Given the description of an element on the screen output the (x, y) to click on. 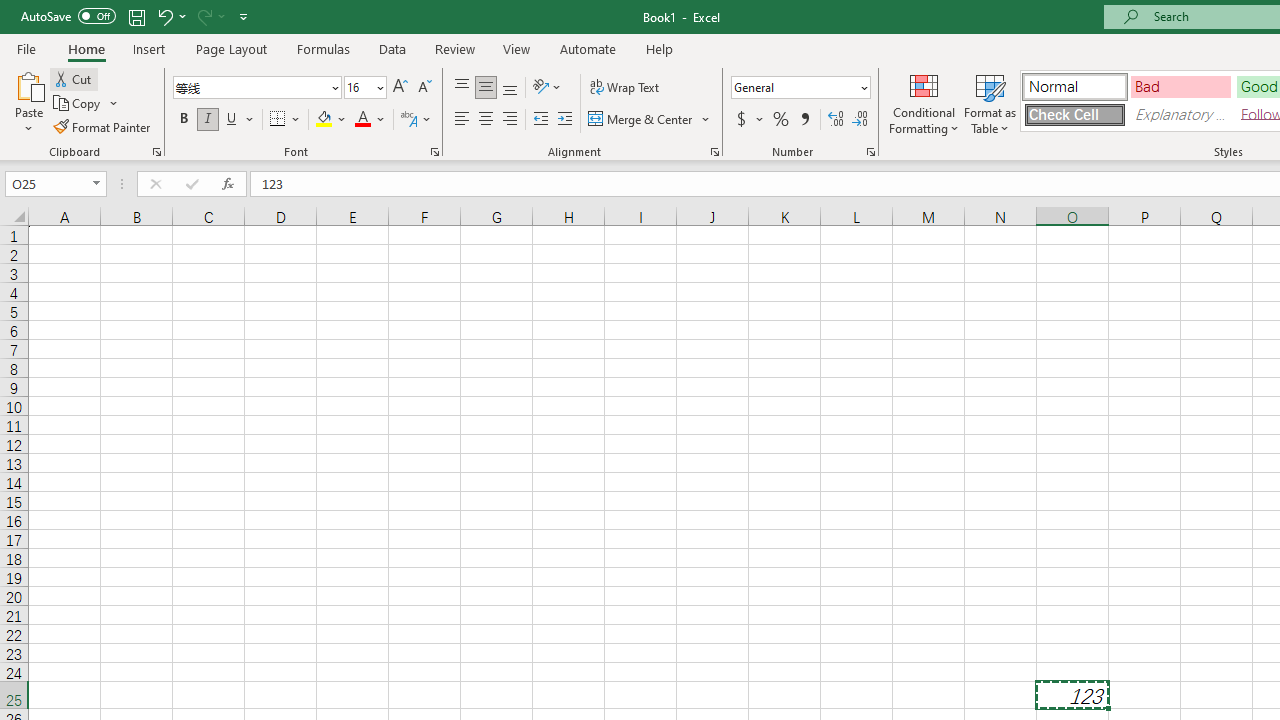
Fill Color RGB(255, 255, 0) (324, 119)
Font (250, 87)
Accounting Number Format (749, 119)
Wrap Text (624, 87)
Format Cell Number (870, 151)
Top Align (461, 87)
Show Phonetic Field (416, 119)
Align Left (461, 119)
Copy (78, 103)
Decrease Indent (540, 119)
